Given the description of an element on the screen output the (x, y) to click on. 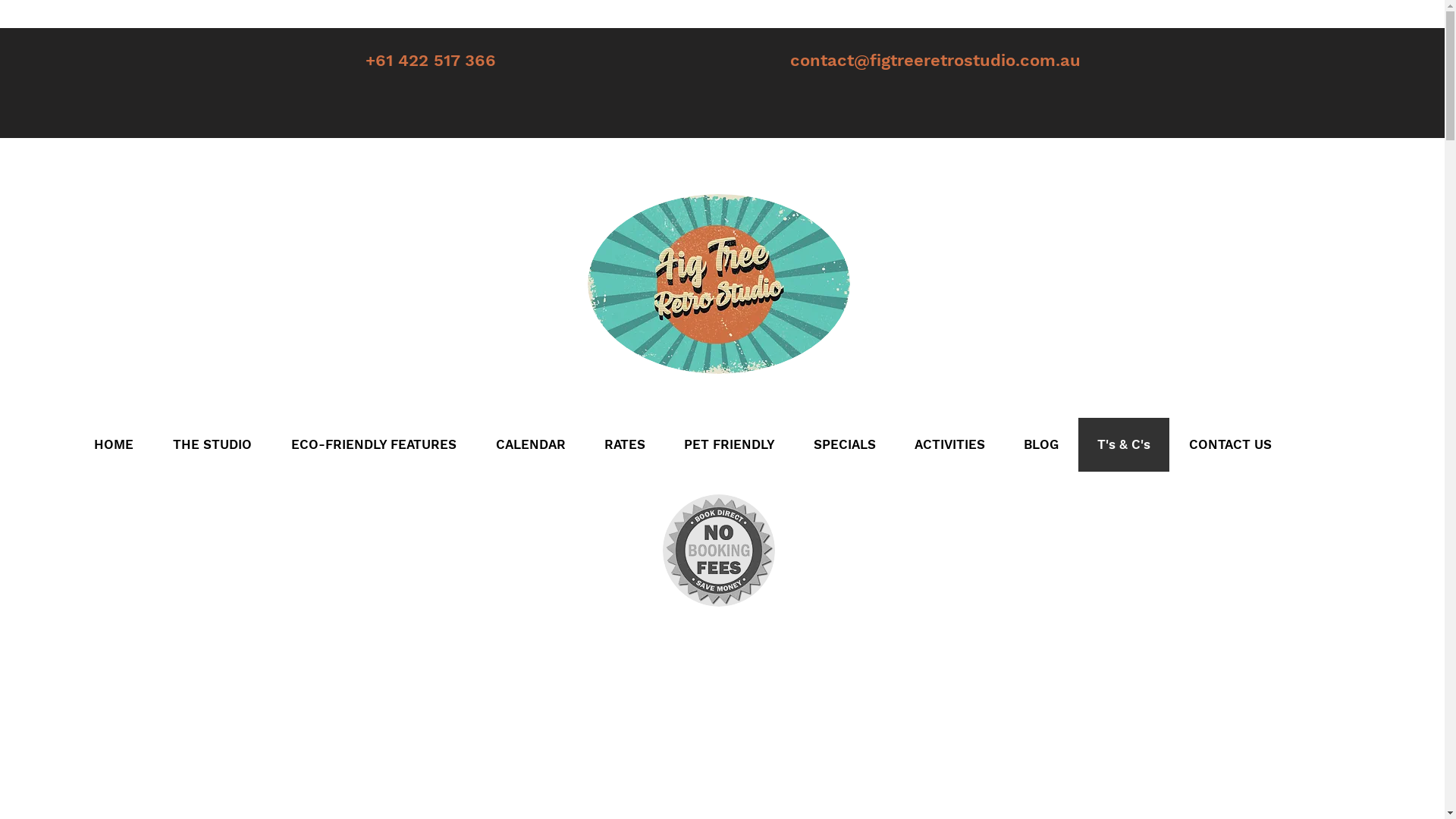
PET FRIENDLY Element type: text (728, 444)
BLOG Element type: text (1040, 444)
HOME Element type: text (113, 444)
RATES Element type: text (623, 444)
Fig Tree Retro Studio logo Element type: hover (717, 283)
CONTACT US Element type: text (1229, 444)
ECO-FRIENDLY FEATURES Element type: text (373, 444)
THE STUDIO Element type: text (212, 444)
T's & C's Element type: text (1122, 444)
CALENDAR Element type: text (530, 444)
SPECIALS Element type: text (843, 444)
contact@figtreeretrostudio.com.au Element type: text (935, 59)
ACTIVITIES Element type: text (949, 444)
